Given the description of an element on the screen output the (x, y) to click on. 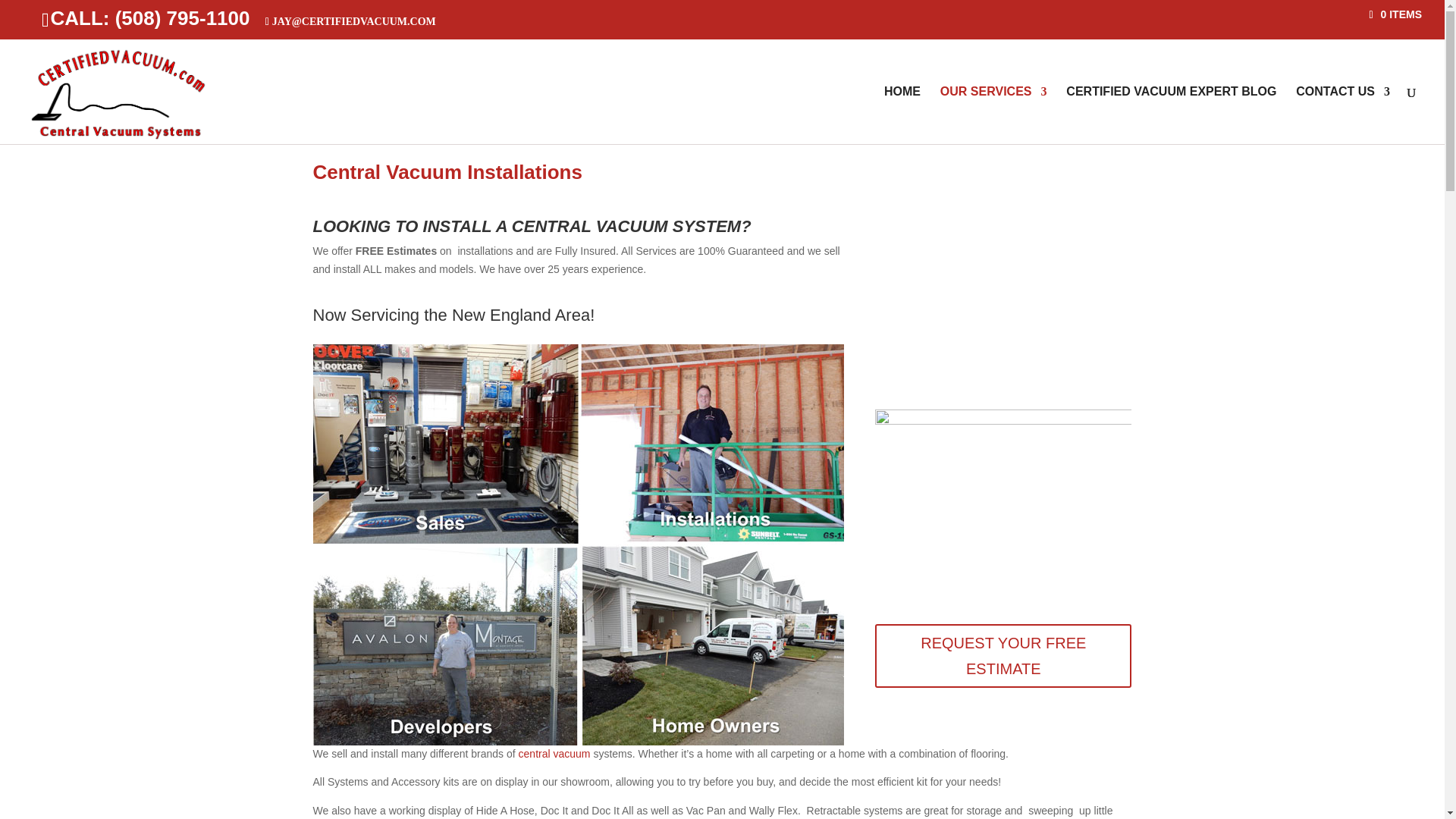
central vacuum (554, 753)
CERTIFIED VACUUM EXPERT BLOG (1170, 115)
OUR SERVICES (993, 115)
0 ITEMS (1395, 13)
central vacuum (554, 753)
CONTACT US (1342, 115)
REQUEST YOUR FREE ESTIMATE (1003, 655)
